Given the description of an element on the screen output the (x, y) to click on. 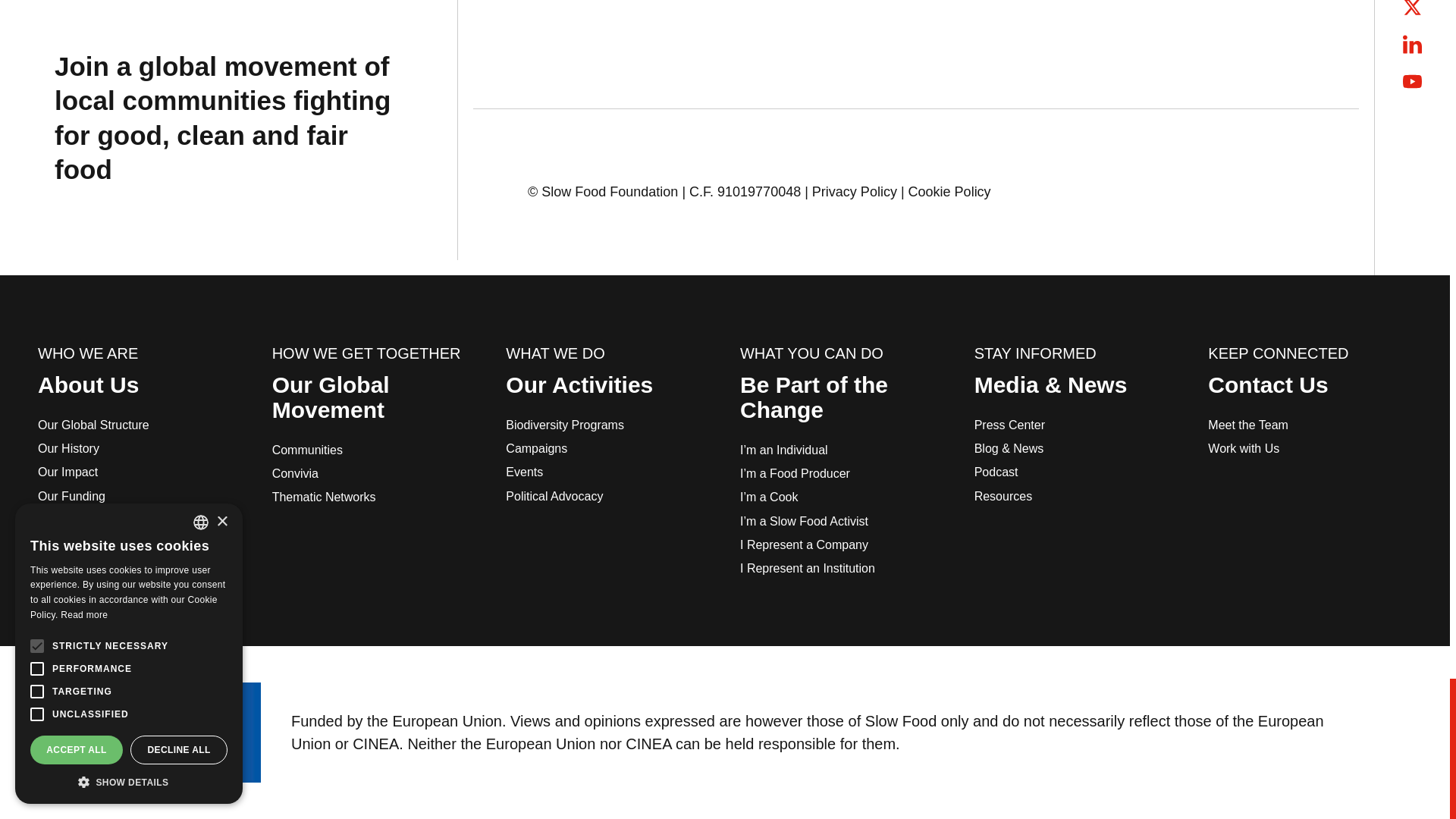
Follow us on twitter (1412, 8)
Cookie Policy (949, 191)
Privacy Policy (854, 191)
